Given the description of an element on the screen output the (x, y) to click on. 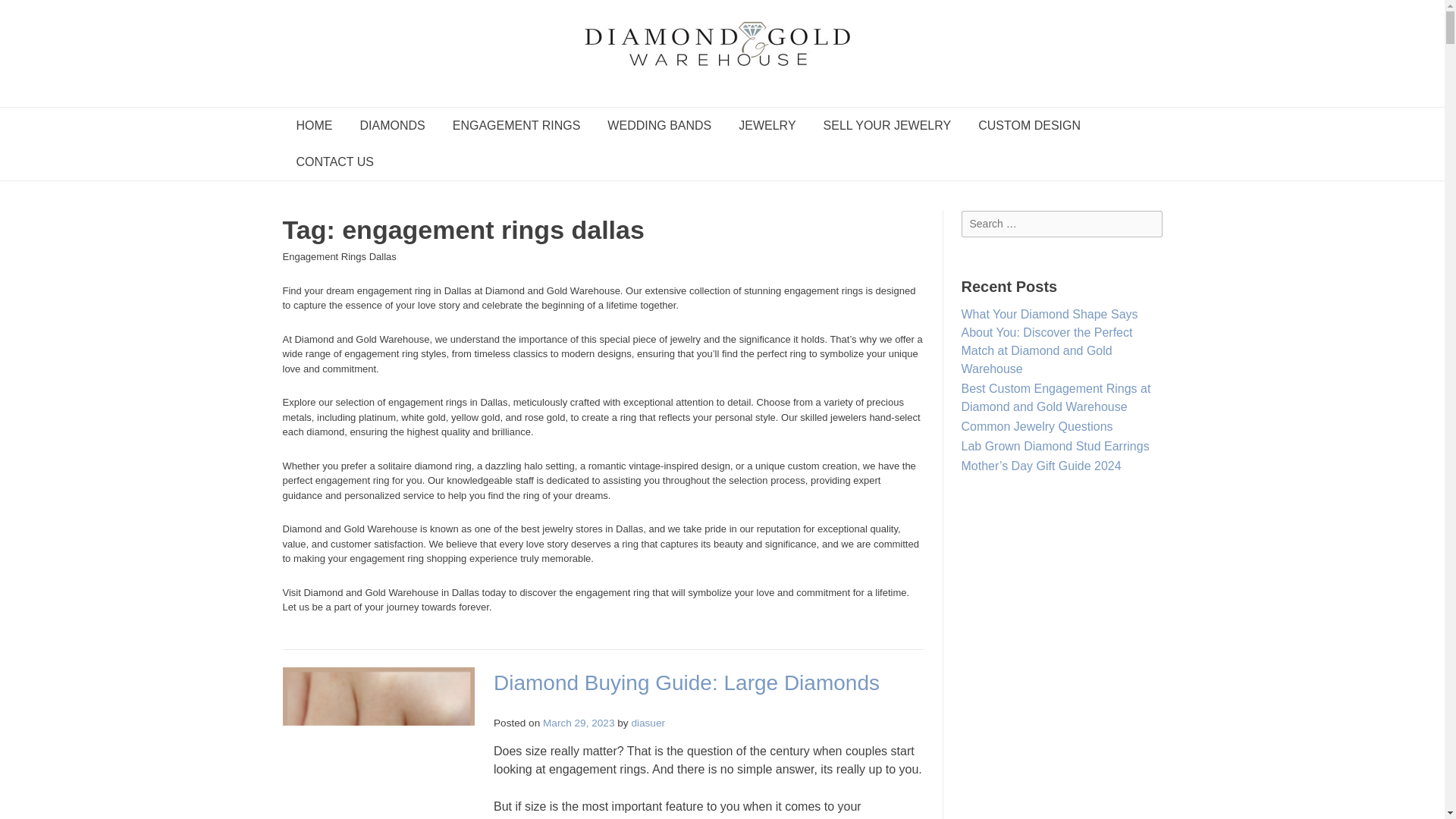
diasuer (647, 722)
WEDDING BANDS (659, 125)
SELL YOUR JEWELRY (887, 125)
Diamond Buying Guide: Large Diamonds (686, 681)
CONTACT US (334, 162)
HOME (314, 125)
DIAMONDS (392, 125)
March 29, 2023 (578, 722)
ENGAGEMENT RINGS (516, 125)
CUSTOM DESIGN (1028, 125)
JEWELRY (767, 125)
